Given the description of an element on the screen output the (x, y) to click on. 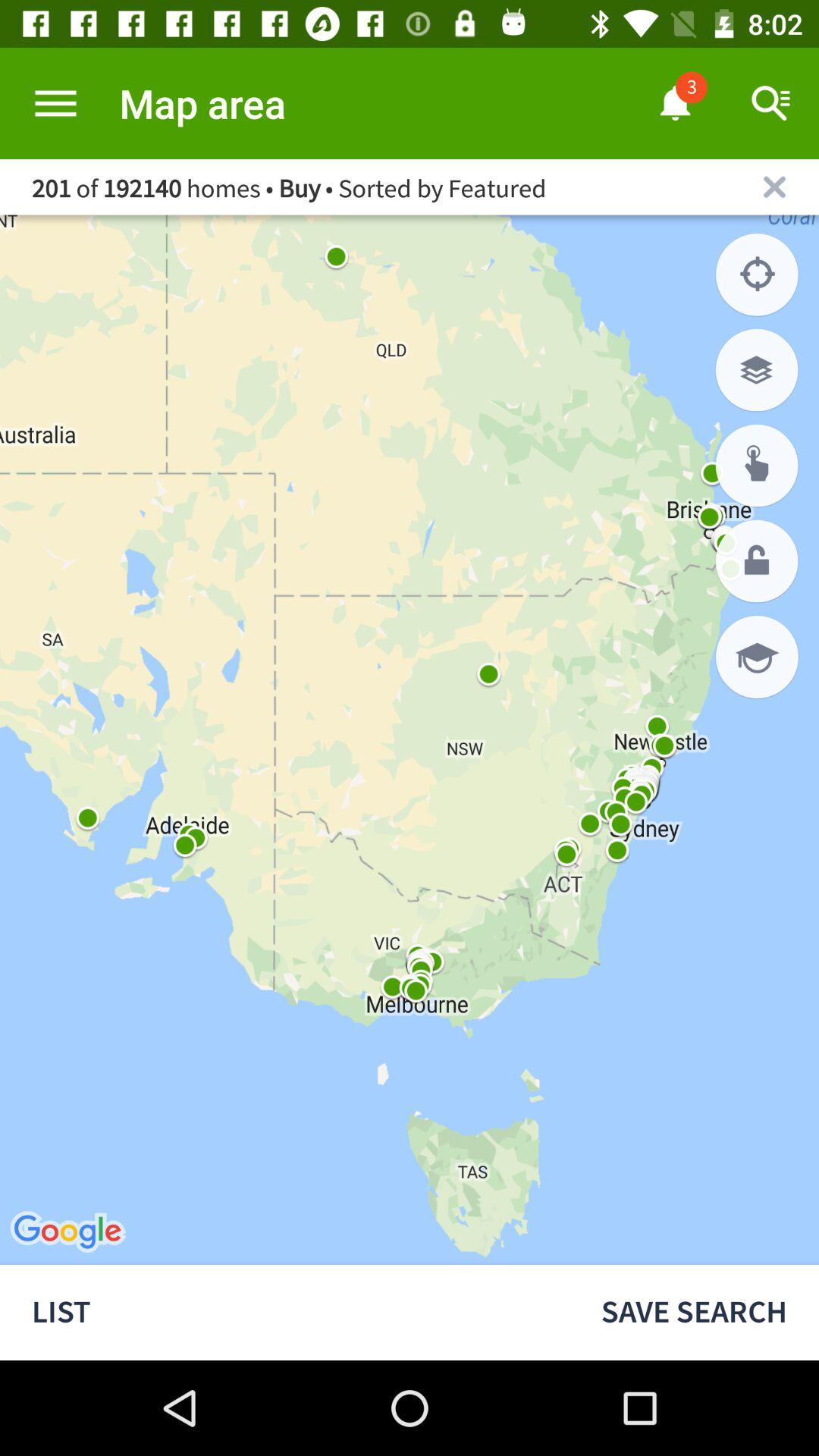
click lock option (756, 561)
